Given the description of an element on the screen output the (x, y) to click on. 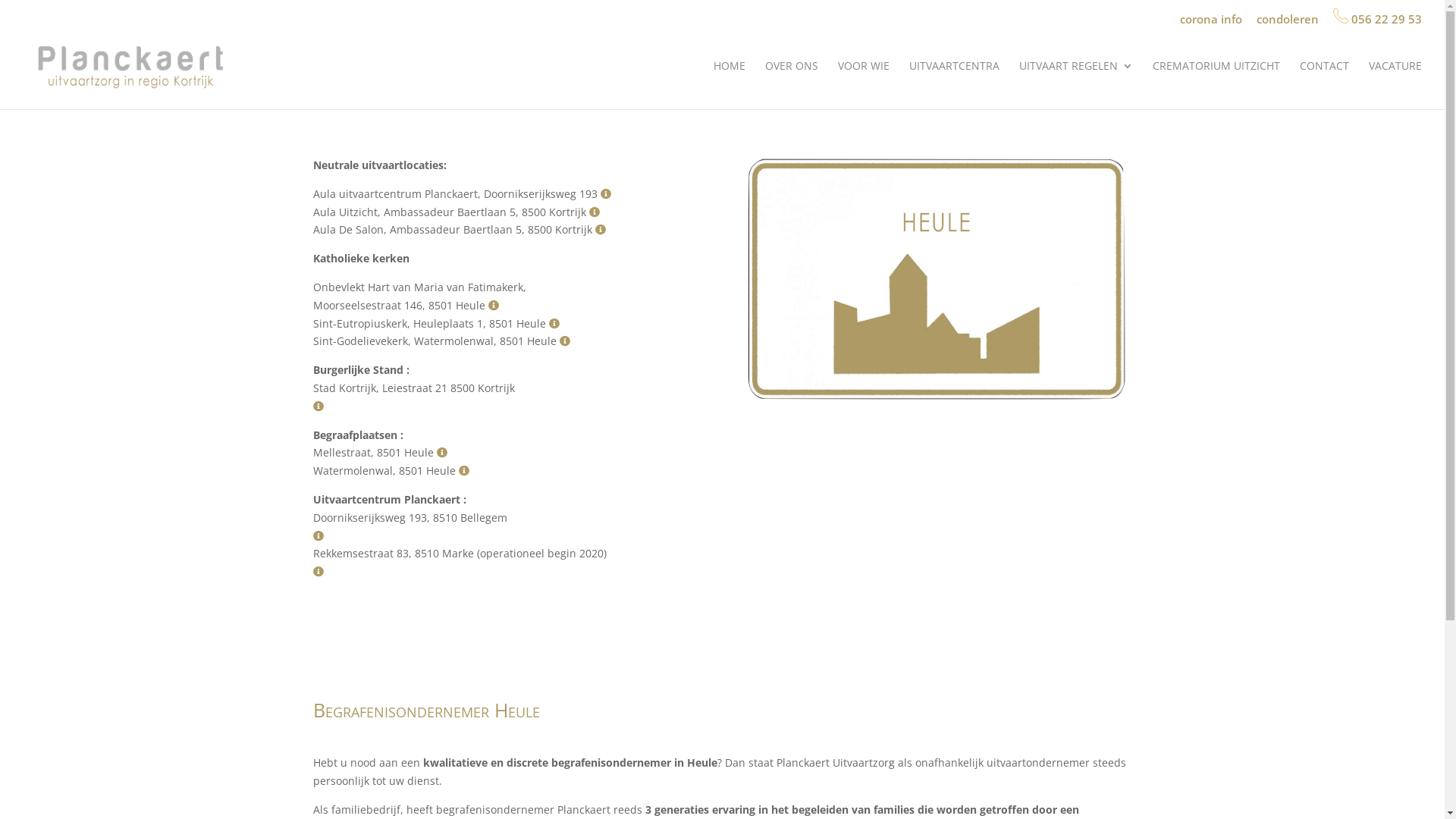
corona info Element type: text (1210, 23)
056 22 29 53 Element type: text (1377, 20)
CREMATORIUM UITZICHT Element type: text (1216, 84)
condoleren Element type: text (1287, 23)
OVER ONS Element type: text (791, 84)
UITVAART REGELEN Element type: text (1075, 84)
UITVAARTCENTRA Element type: text (954, 84)
HOME Element type: text (729, 84)
VACATURE Element type: text (1394, 84)
VOOR WIE Element type: text (863, 84)
CONTACT Element type: text (1324, 84)
  Element type: text (601, 229)
